Given the description of an element on the screen output the (x, y) to click on. 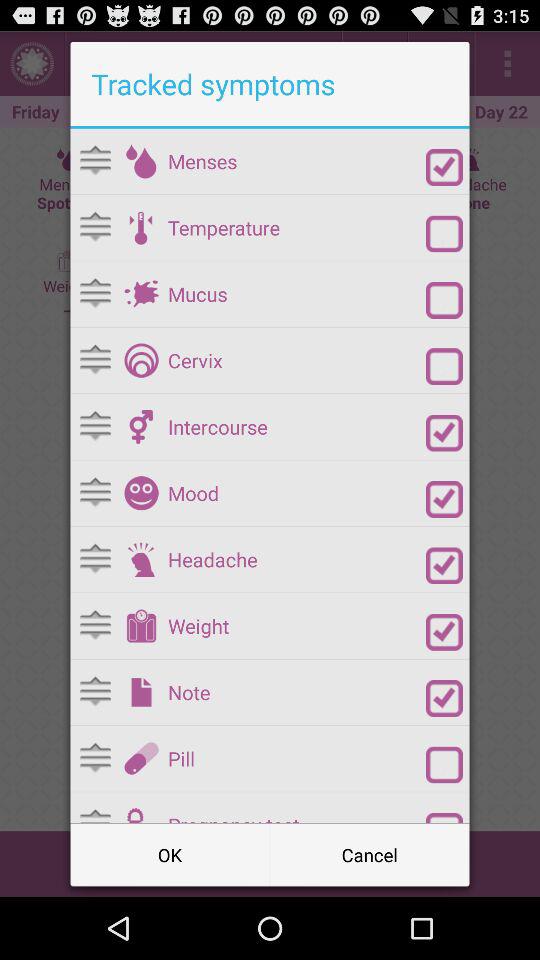
cervix tracked symbol (141, 360)
